Given the description of an element on the screen output the (x, y) to click on. 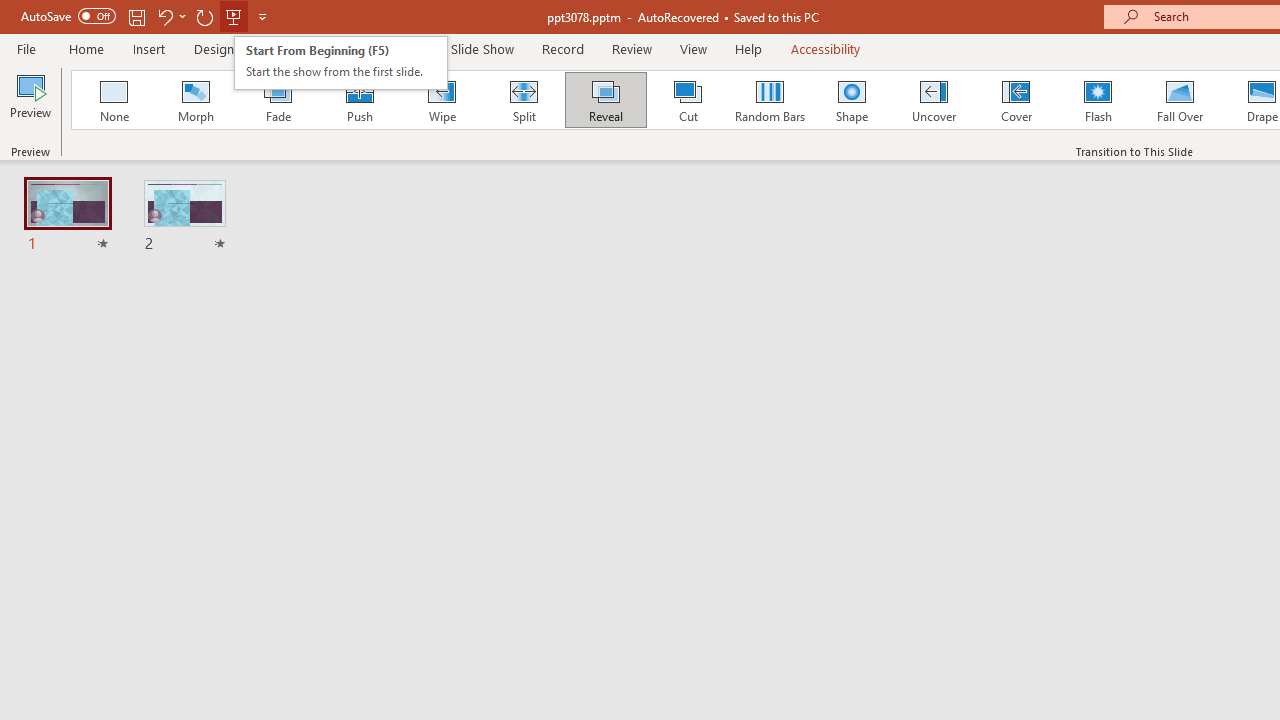
Fall Over (1180, 100)
Cover (1016, 100)
Wipe (441, 100)
Random Bars (770, 100)
Uncover (934, 100)
